Given the description of an element on the screen output the (x, y) to click on. 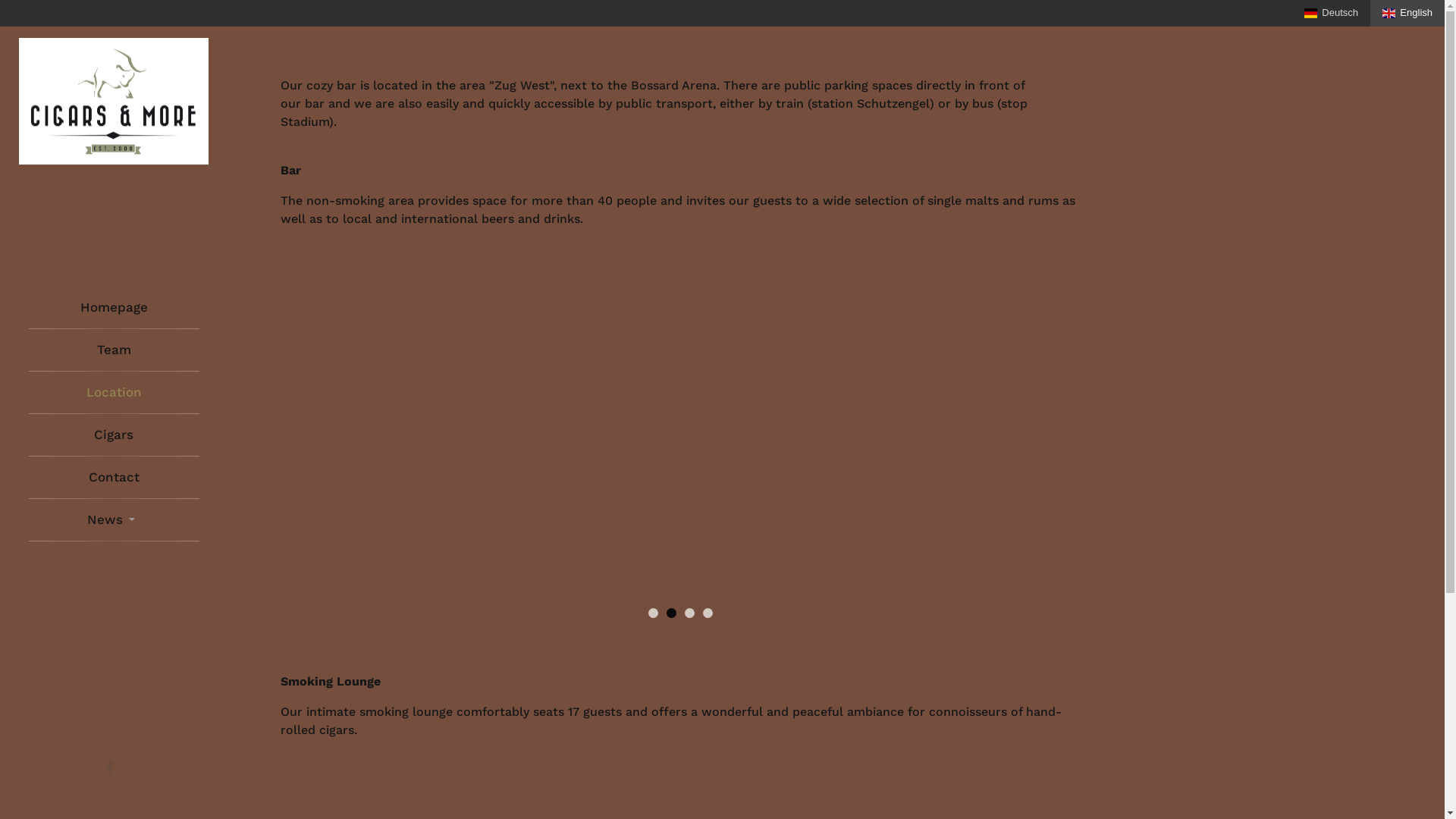
Location Element type: text (113, 392)
1 Element type: text (652, 613)
Contact Element type: text (113, 477)
4 Element type: text (707, 613)
English Element type: text (1407, 13)
2 Element type: text (670, 613)
Team Element type: text (113, 349)
3 Element type: text (688, 613)
Cigars Element type: text (113, 434)
Homepage Element type: text (113, 307)
Deutsch Element type: text (1331, 13)
Cigars and More AG Element type: hover (113, 100)
